Given the description of an element on the screen output the (x, y) to click on. 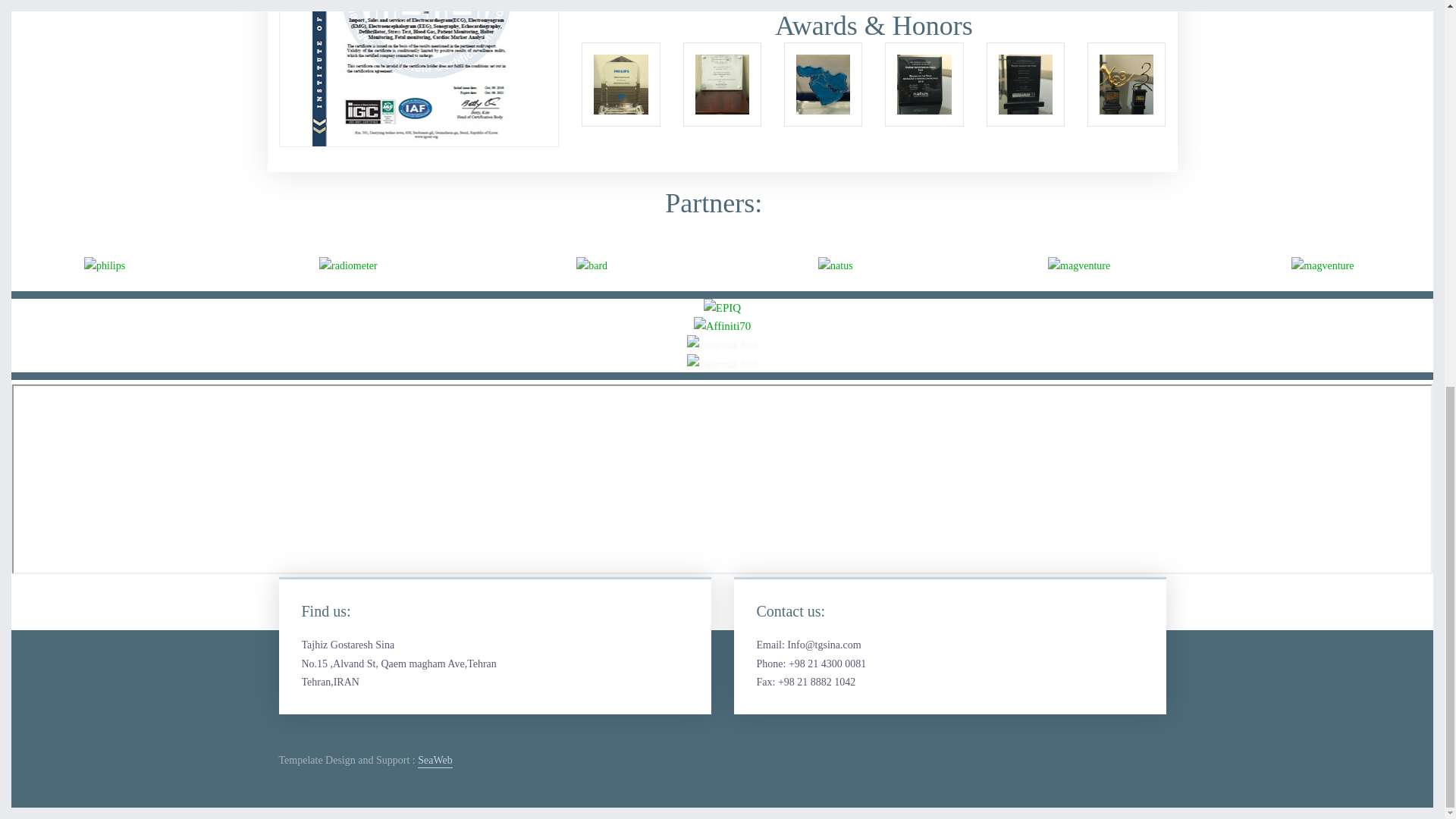
SeaWeb (434, 759)
